Given the description of an element on the screen output the (x, y) to click on. 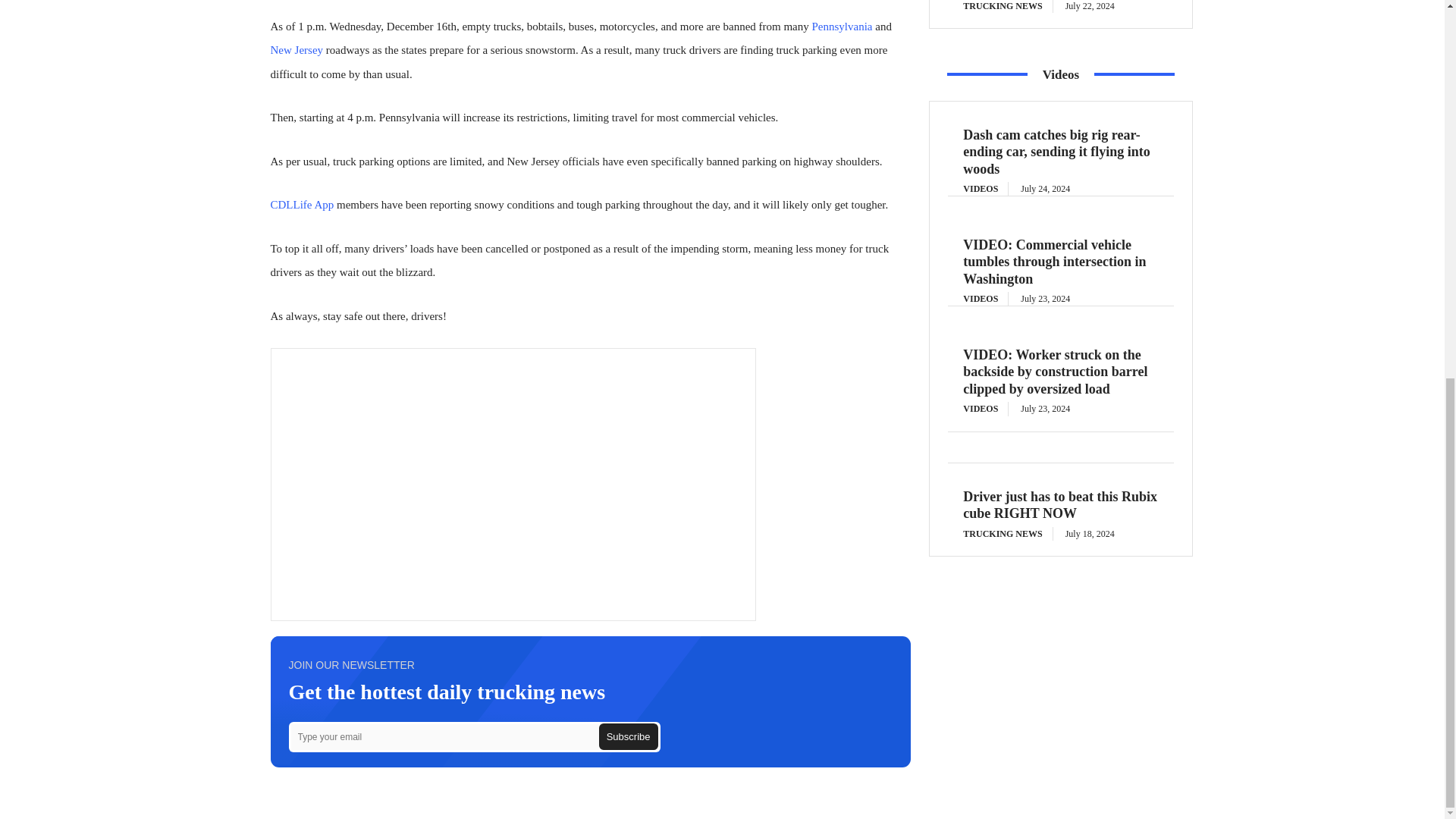
Subscribe (628, 736)
Pennsylvania (842, 26)
TRUCKING NEWS (1007, 6)
TRUCKING NEWS (1007, 533)
VIDEOS (985, 408)
CDLLife App (301, 204)
VIDEOS (985, 188)
VIDEOS (985, 298)
Subscribe (628, 736)
Driver just has to beat this Rubix cube RIGHT NOW (1059, 504)
New Jersey (296, 50)
